Given the description of an element on the screen output the (x, y) to click on. 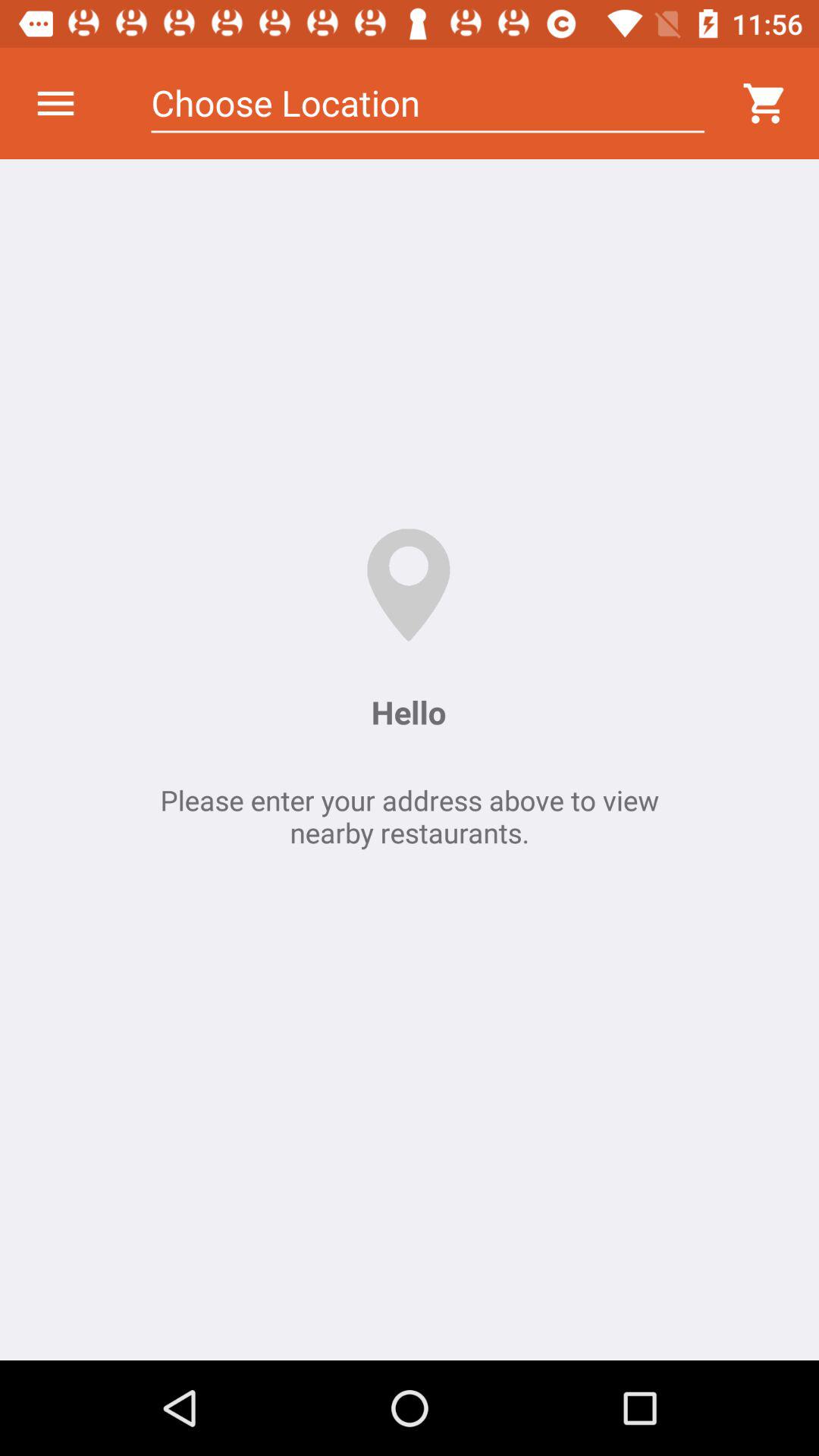
open the icon above the hello item (427, 103)
